Given the description of an element on the screen output the (x, y) to click on. 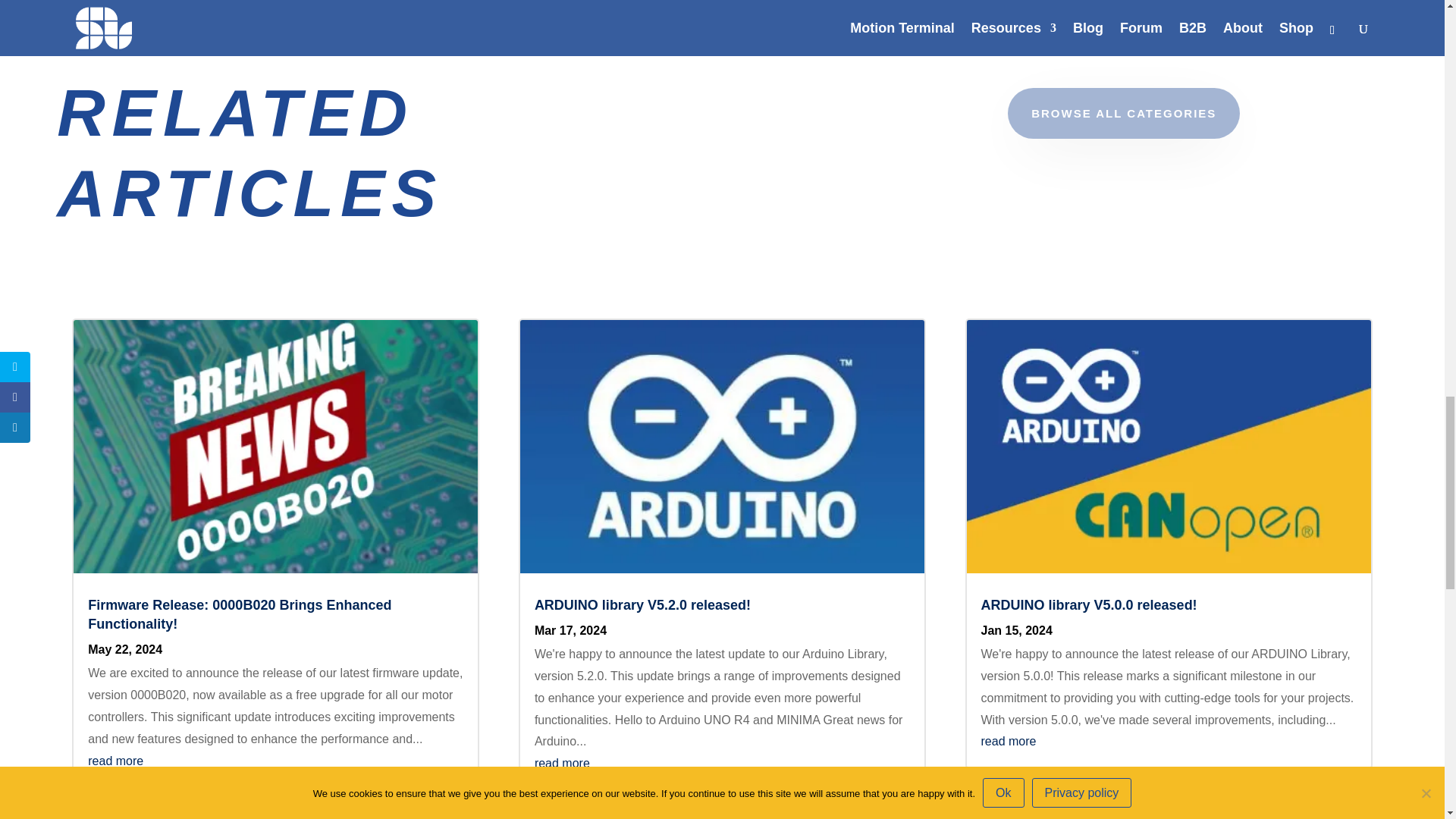
Firmware Release: 0000B020 Brings Enhanced Functionality! (239, 614)
read more (114, 760)
BROWSE ALL CATEGORIES (1123, 112)
